Given the description of an element on the screen output the (x, y) to click on. 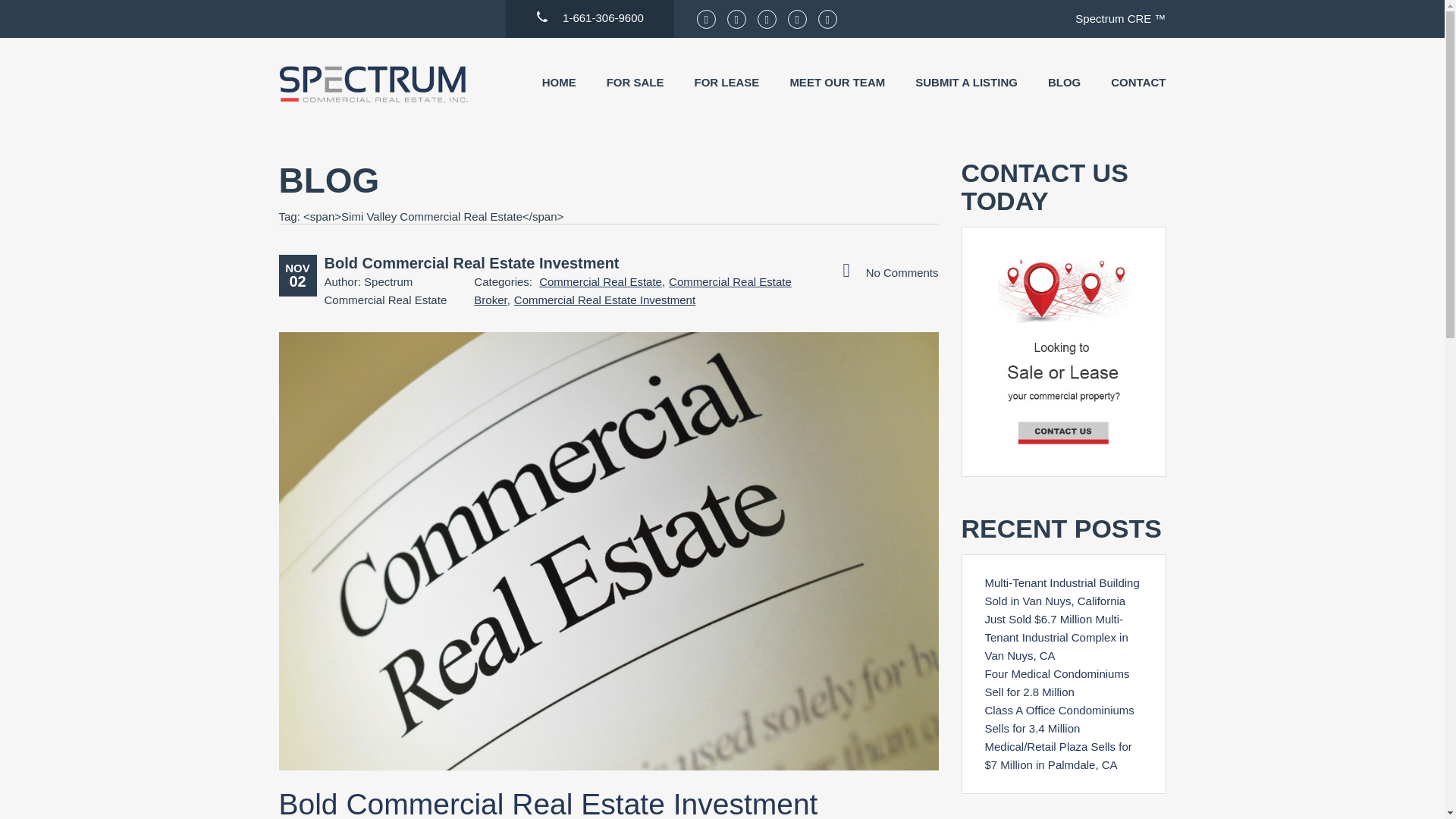
FOR LEASE (727, 82)
HOME (558, 82)
1-661-306-9600 (589, 11)
MEET OUR TEAM (837, 82)
Spectrum (373, 84)
BLOG (1064, 82)
SUBMIT A LISTING (966, 82)
CONTACT (1138, 82)
Commercial Real Estate Broker (632, 290)
No Comments (891, 271)
Four Medical Condominiums Sell for 2.8 Million (1056, 682)
Class A Office Condominiums Sells for 3.4 Million (1059, 718)
FOR SALE (635, 82)
Commercial Real Estate (600, 281)
